Given the description of an element on the screen output the (x, y) to click on. 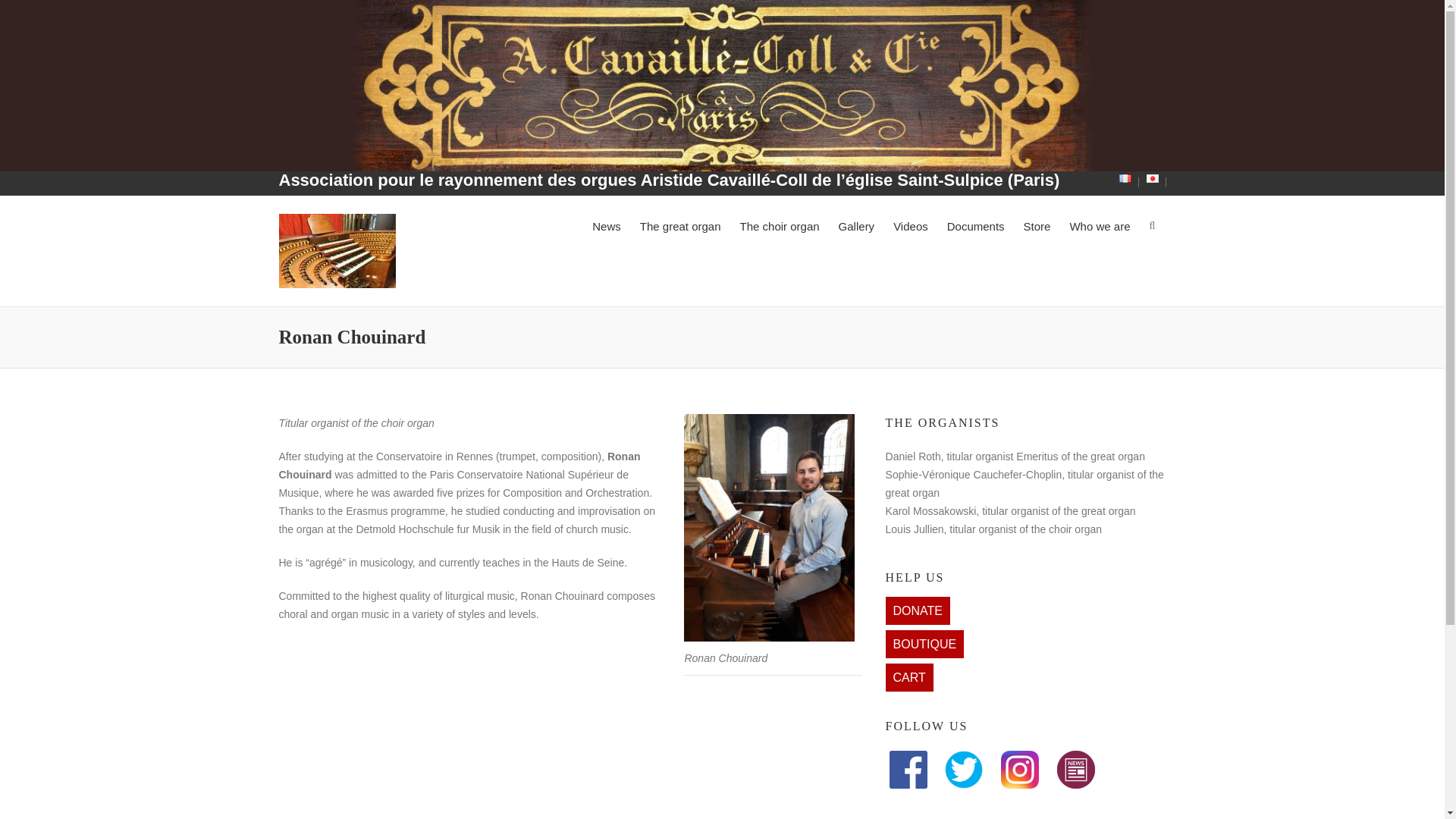
The choir organ (779, 225)
The great organ (680, 225)
Twitter (963, 759)
Subscribe to the newsletter (1075, 759)
Who we are (1098, 225)
Facebook (908, 759)
Documents (975, 225)
Instagram (1019, 759)
